Given the description of an element on the screen output the (x, y) to click on. 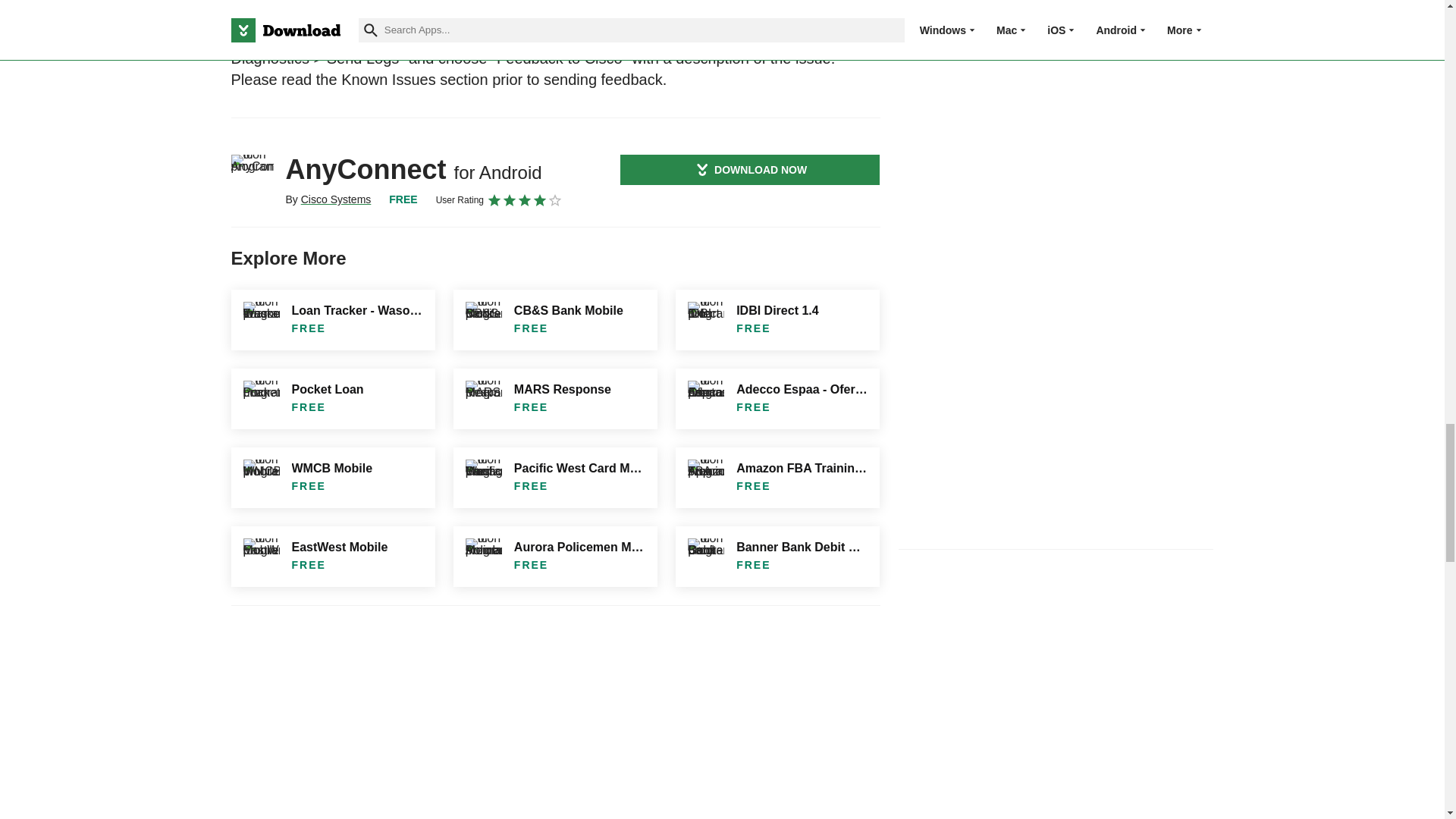
Adecco Espaa - Ofertas de Trabajo y Empleo (777, 398)
IDBI Direct 1.4 (777, 319)
Amazon FBA Training App For Beginners (777, 477)
WMCB Mobile (331, 477)
Pocket Loan (331, 398)
MARS Response (555, 398)
Pacific West Card Manager (555, 477)
EastWest Mobile (331, 556)
Banner Bank Debit Card Control (777, 556)
Aurora Policemen Member.Net (555, 556)
AnyConnect for Android (251, 175)
Loan Tracker - Wasooli for Loan Management (331, 319)
